Given the description of an element on the screen output the (x, y) to click on. 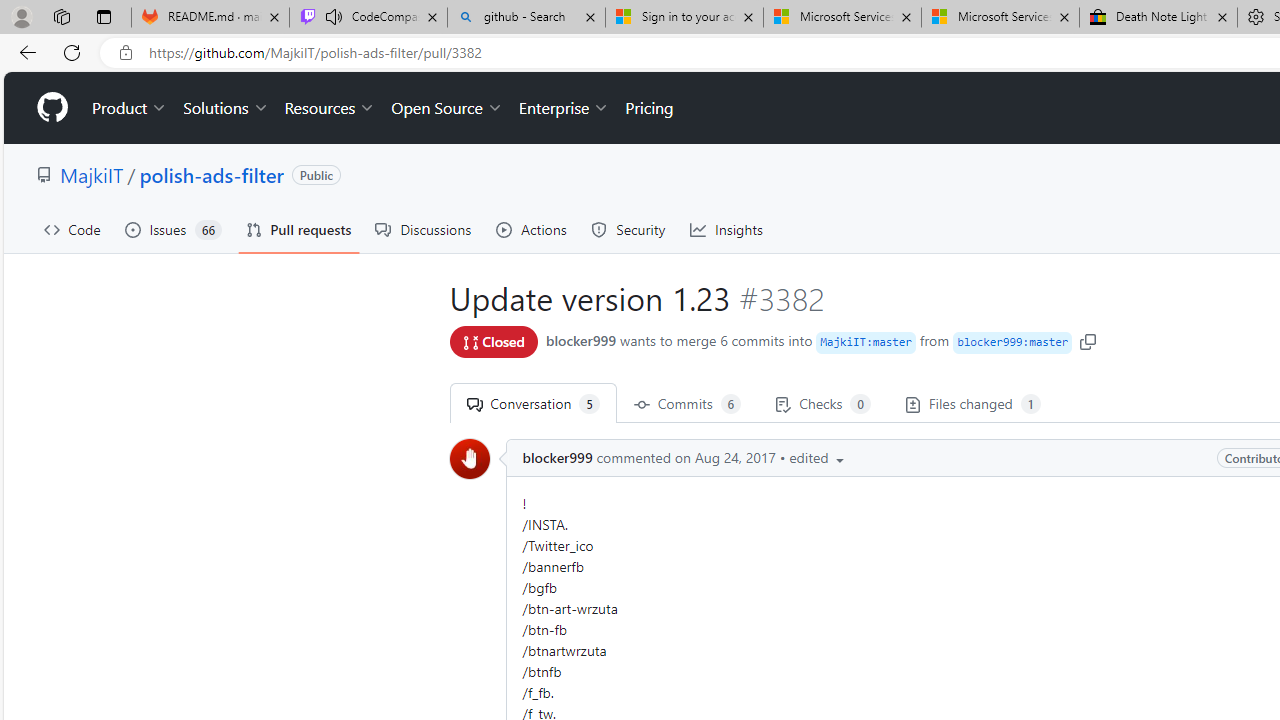
blocker999 : master (1012, 342)
Code (71, 229)
Pricing (649, 107)
Mute tab (333, 16)
github - Search (526, 17)
Pull requests (298, 229)
 Commits 6 (687, 403)
Actions (531, 229)
Solutions (225, 107)
Open Source (446, 107)
Pricing (649, 107)
polish-ads-filter (211, 174)
